Given the description of an element on the screen output the (x, y) to click on. 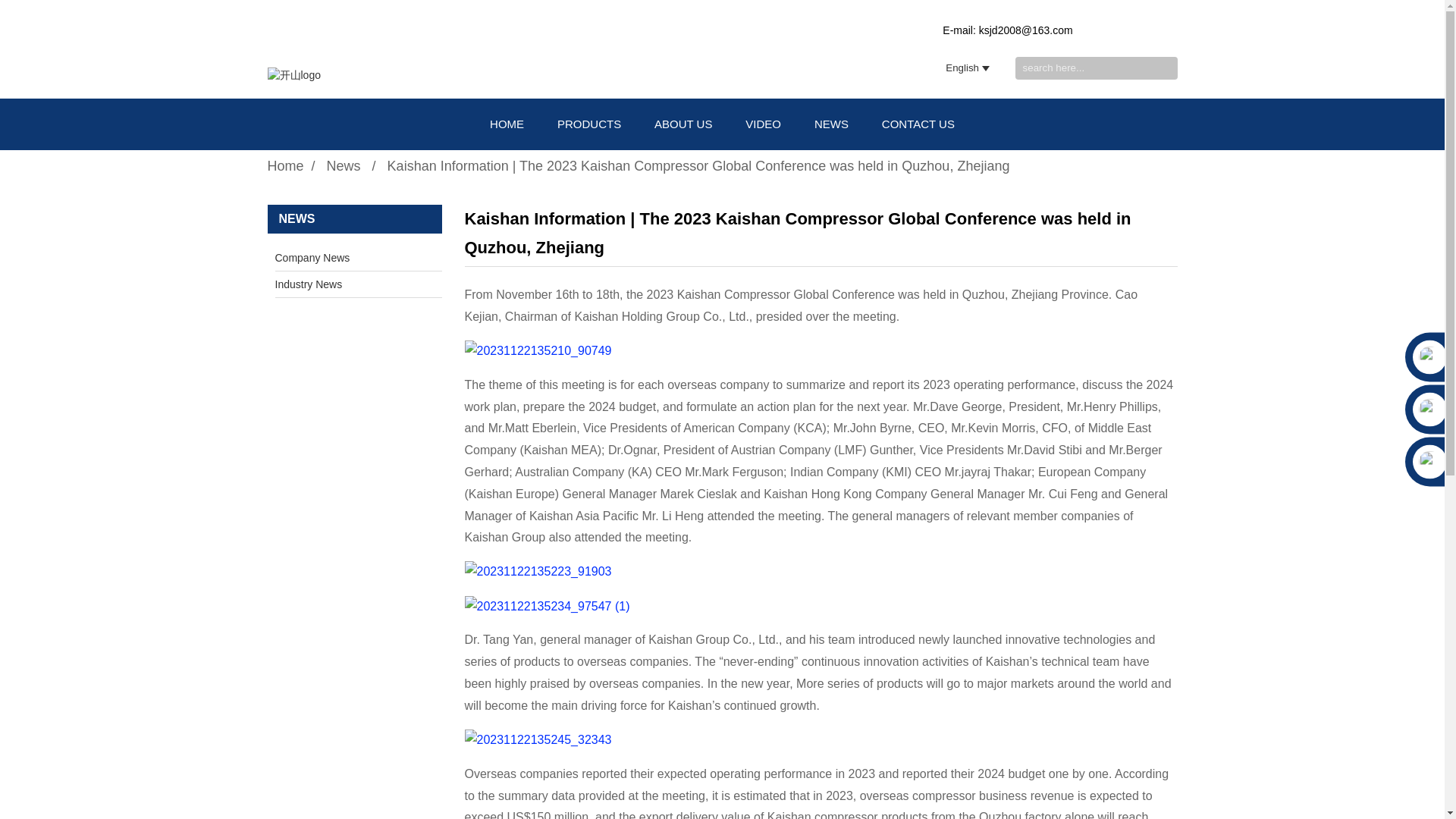
Home (284, 165)
News (343, 165)
Industry News (343, 284)
Company News (343, 257)
CONTACT US (918, 123)
English (954, 67)
ABOUT US (682, 123)
PRODUCTS (589, 123)
